Given the description of an element on the screen output the (x, y) to click on. 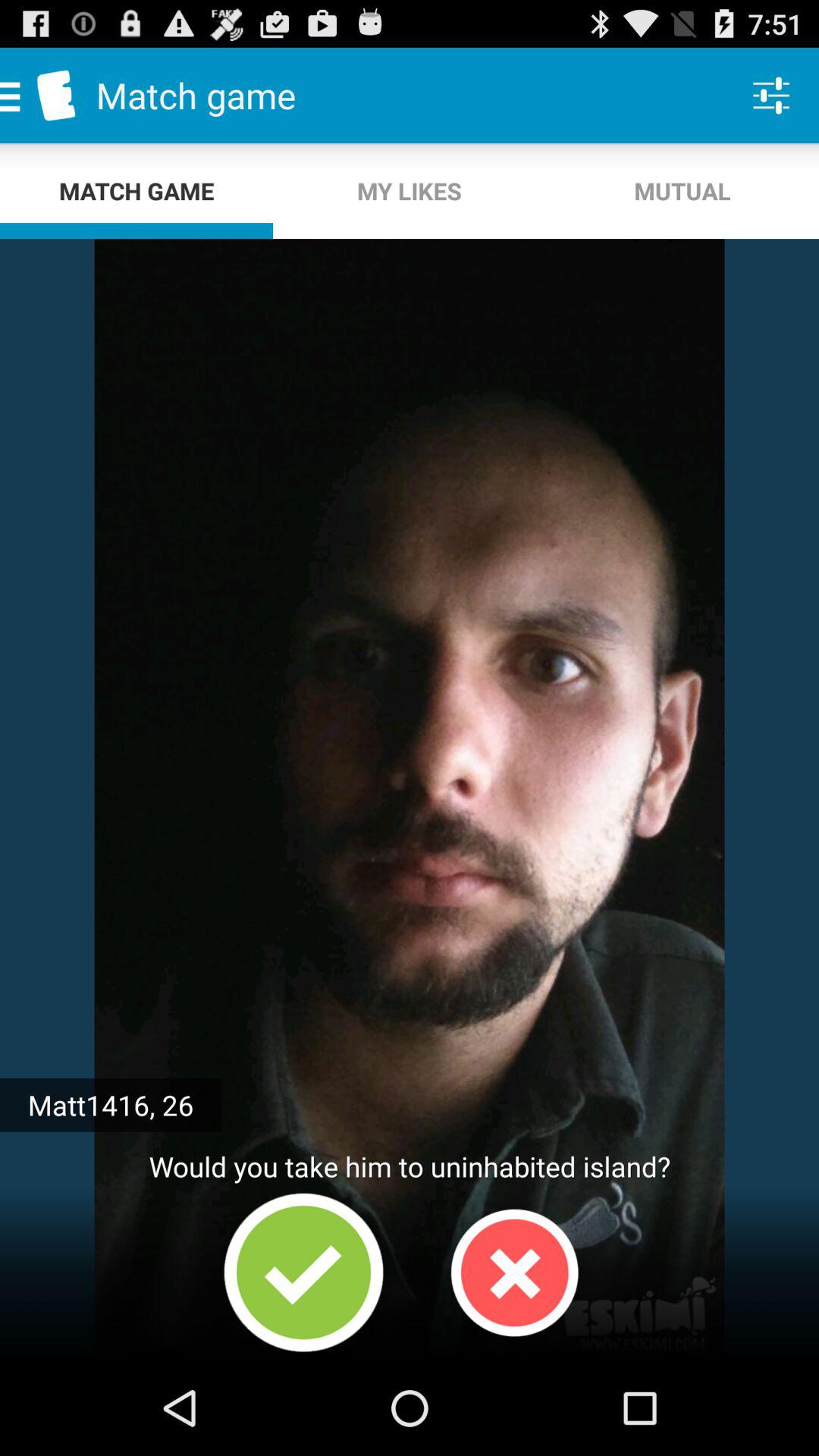
select icon next to mutual item (409, 190)
